Given the description of an element on the screen output the (x, y) to click on. 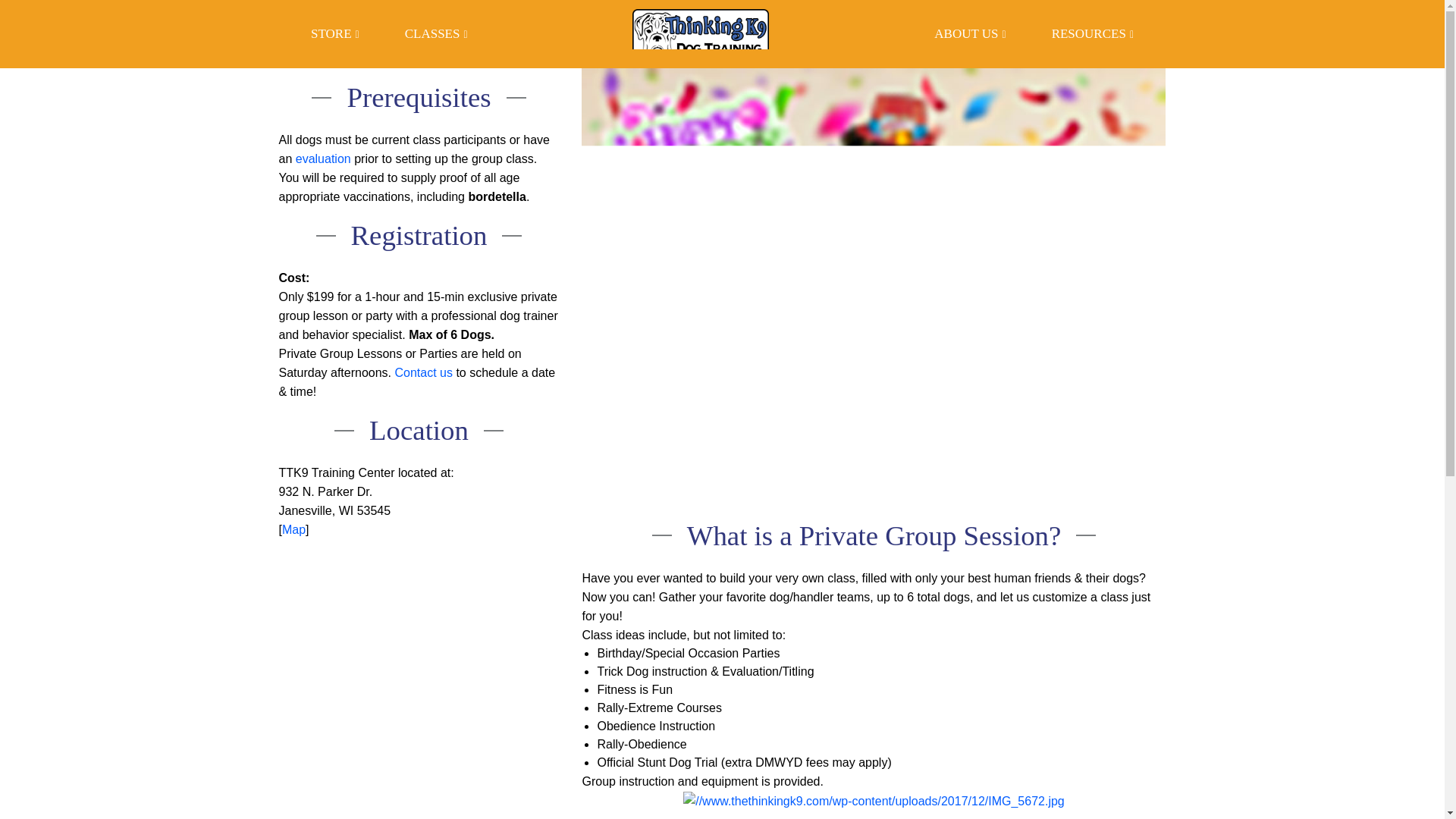
evaluation (322, 158)
RESOURCES (1092, 33)
ABOUT US (969, 33)
Contact us (422, 372)
STORE (334, 33)
CLASSES (435, 33)
Map (293, 529)
